Given the description of an element on the screen output the (x, y) to click on. 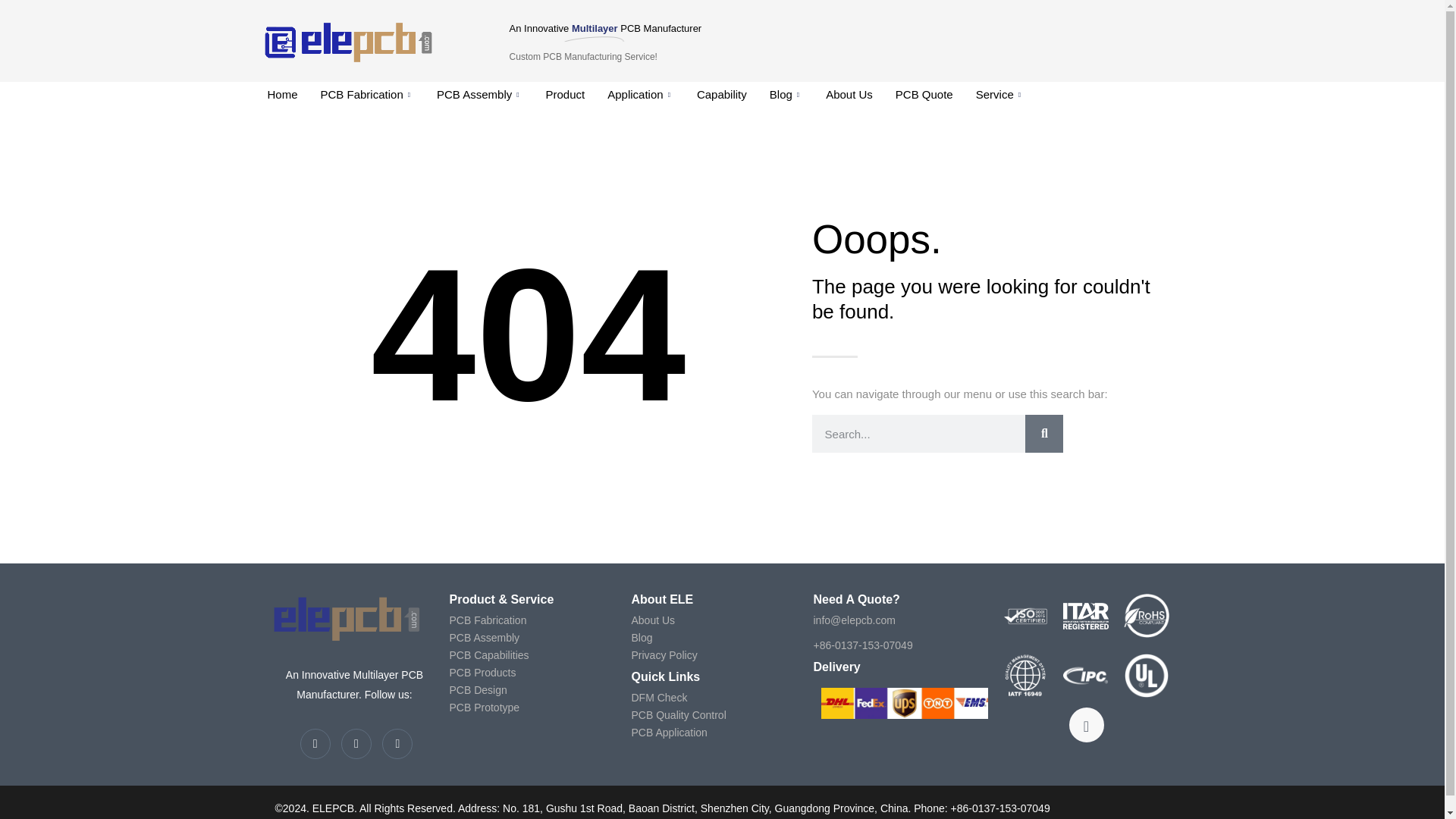
PCB Quote (923, 94)
Product (565, 94)
Capability (721, 94)
Home (282, 94)
PCB Assembly (479, 94)
Application (640, 94)
Service (999, 94)
Blog (785, 94)
About Us (848, 94)
PCB Fabrication (367, 94)
